Given the description of an element on the screen output the (x, y) to click on. 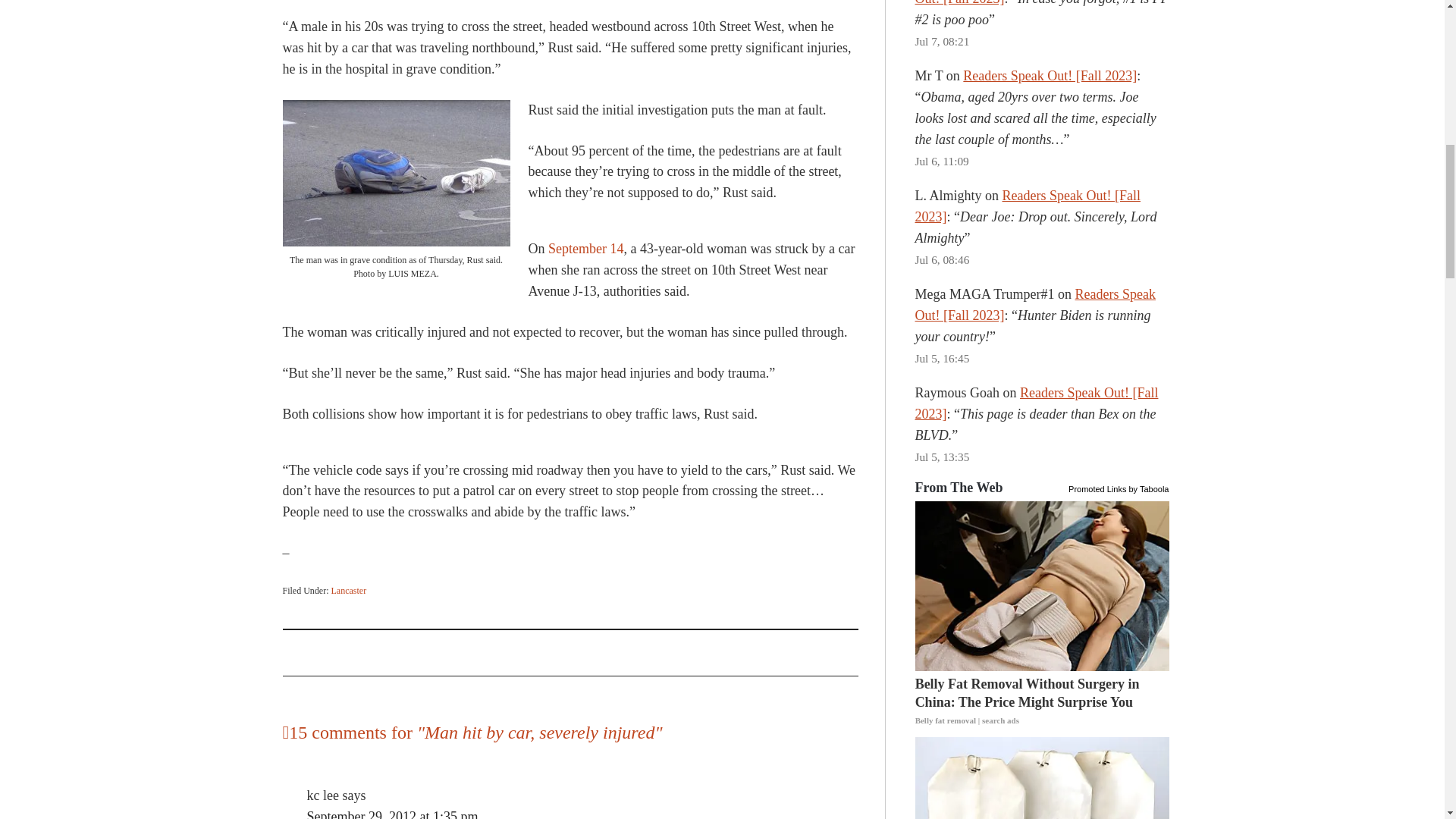
September 29, 2012 at 1:35 pm (391, 814)
Lancaster (348, 590)
September 14 (585, 248)
Woman struck by car still clinging to life (585, 248)
man hit by car lancaster 3 (395, 172)
